Given the description of an element on the screen output the (x, y) to click on. 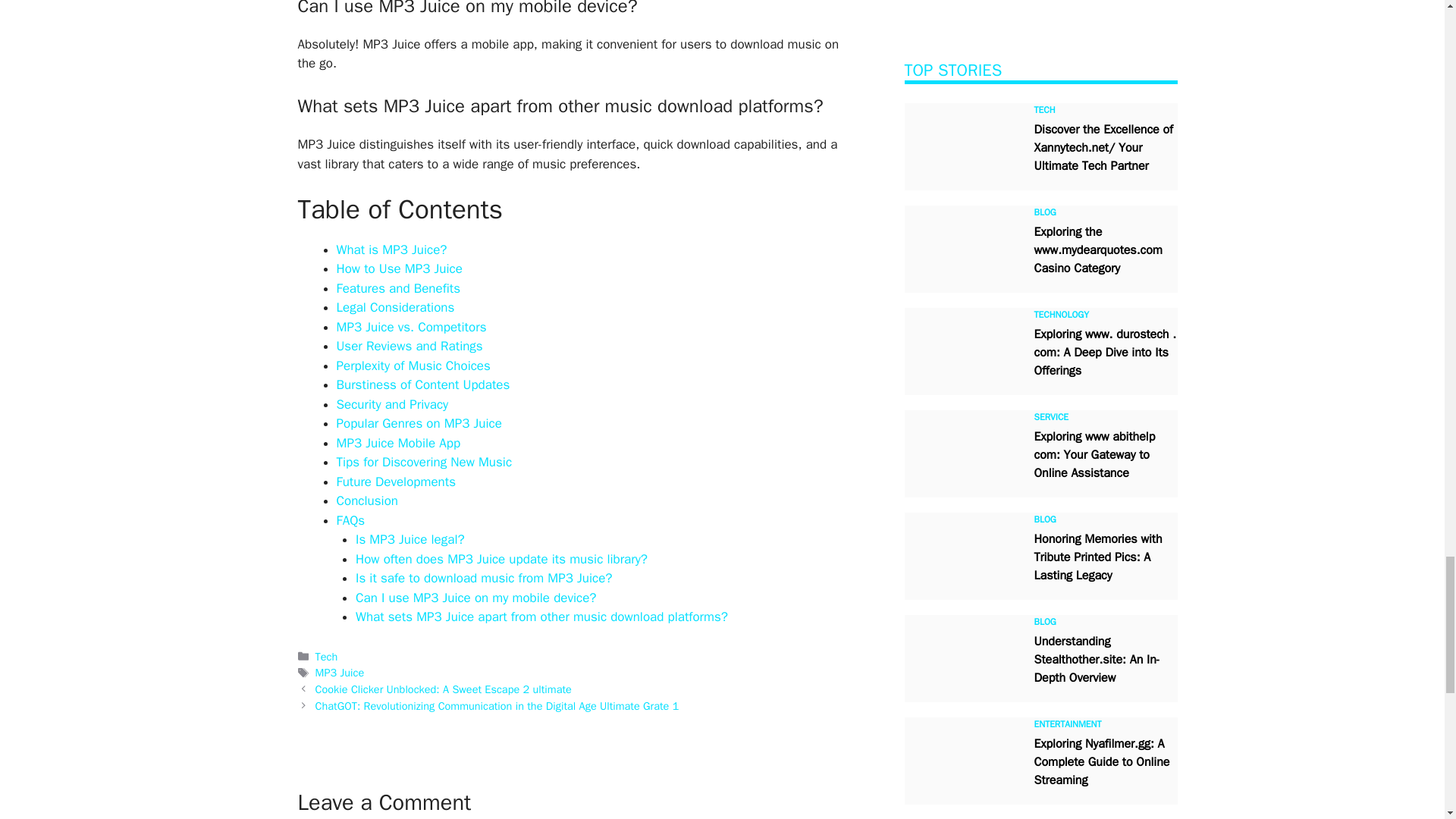
Legal Considerations (395, 307)
FAQs (350, 520)
What is MP3 Juice? (391, 249)
Conclusion (366, 500)
MP3 Juice vs. Competitors (411, 326)
Tech (326, 656)
Security and Privacy (392, 404)
Is it safe to download music from MP3 Juice? (483, 578)
Tips for Discovering New Music (424, 462)
How to Use MP3 Juice (399, 268)
